Given the description of an element on the screen output the (x, y) to click on. 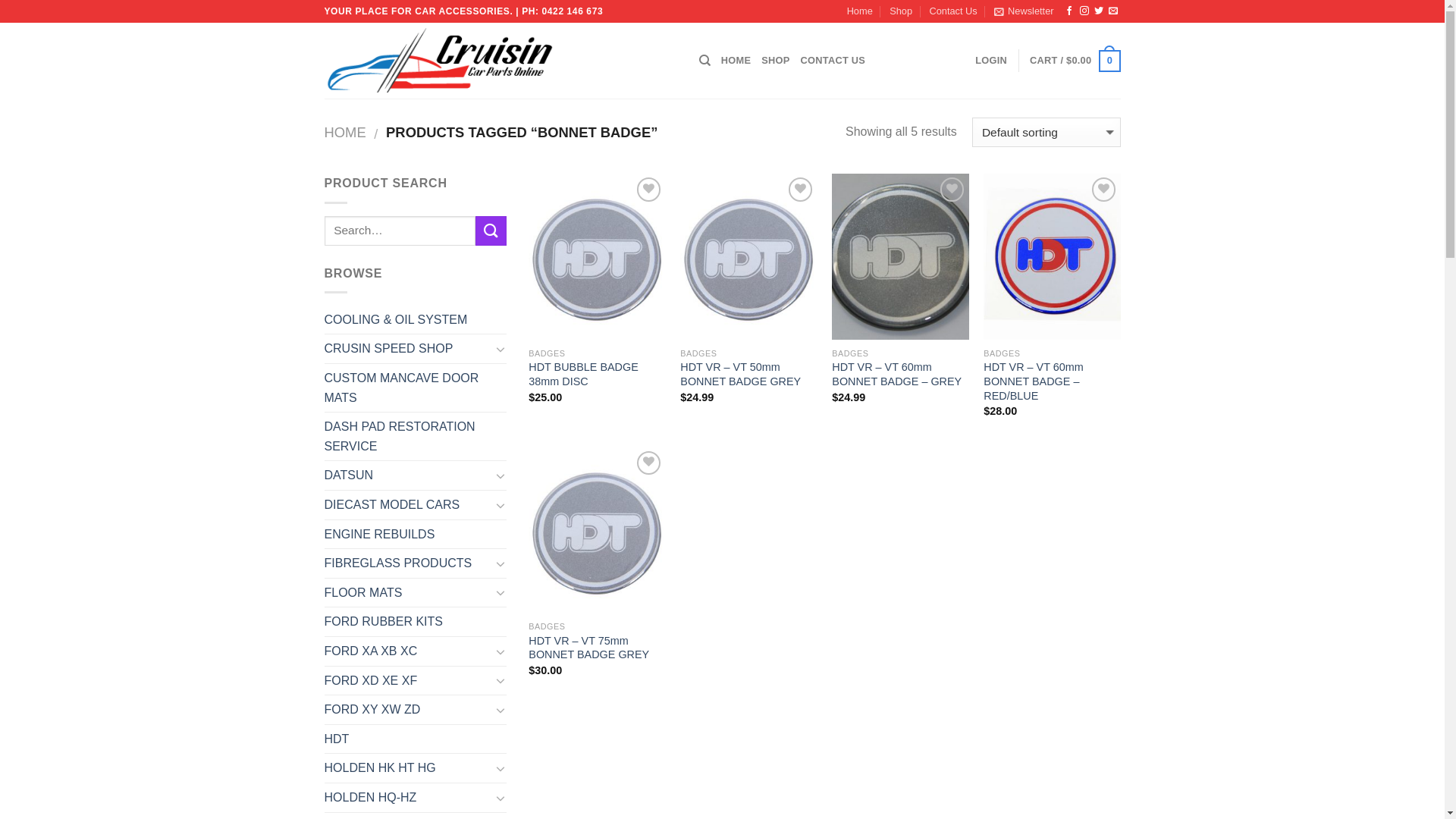
FIBREGLASS PRODUCTS Element type: text (407, 563)
Newsletter Element type: text (1023, 11)
CRUSIN SPEED SHOP Element type: text (407, 348)
HDT BUBBLE BADGE 38mm DISC Element type: text (596, 374)
FORD XD XE XF Element type: text (407, 680)
CART / $0.00
0 Element type: text (1074, 61)
HDT Element type: text (415, 738)
Cruisin Car Parts Online - Old School Element type: hover (500, 60)
FORD XY XW ZD Element type: text (407, 709)
COOLING & OIL SYSTEM Element type: text (415, 319)
ENGINE REBUILDS Element type: text (415, 534)
FORD XA XB XC Element type: text (407, 651)
HOLDEN HQ-HZ Element type: text (407, 797)
FORD RUBBER KITS Element type: text (415, 621)
DIECAST MODEL CARS Element type: text (407, 504)
CUSTOM MANCAVE DOOR MATS Element type: text (415, 387)
DATSUN Element type: text (407, 475)
Shop Element type: text (900, 11)
CONTACT US Element type: text (833, 60)
Home Element type: text (859, 11)
SHOP Element type: text (775, 60)
DASH PAD RESTORATION SERVICE Element type: text (415, 436)
FLOOR MATS Element type: text (407, 592)
HOME Element type: text (345, 132)
LOGIN Element type: text (991, 60)
HOME Element type: text (735, 60)
HOLDEN HK HT HG Element type: text (407, 767)
Contact Us Element type: text (952, 11)
